Given the description of an element on the screen output the (x, y) to click on. 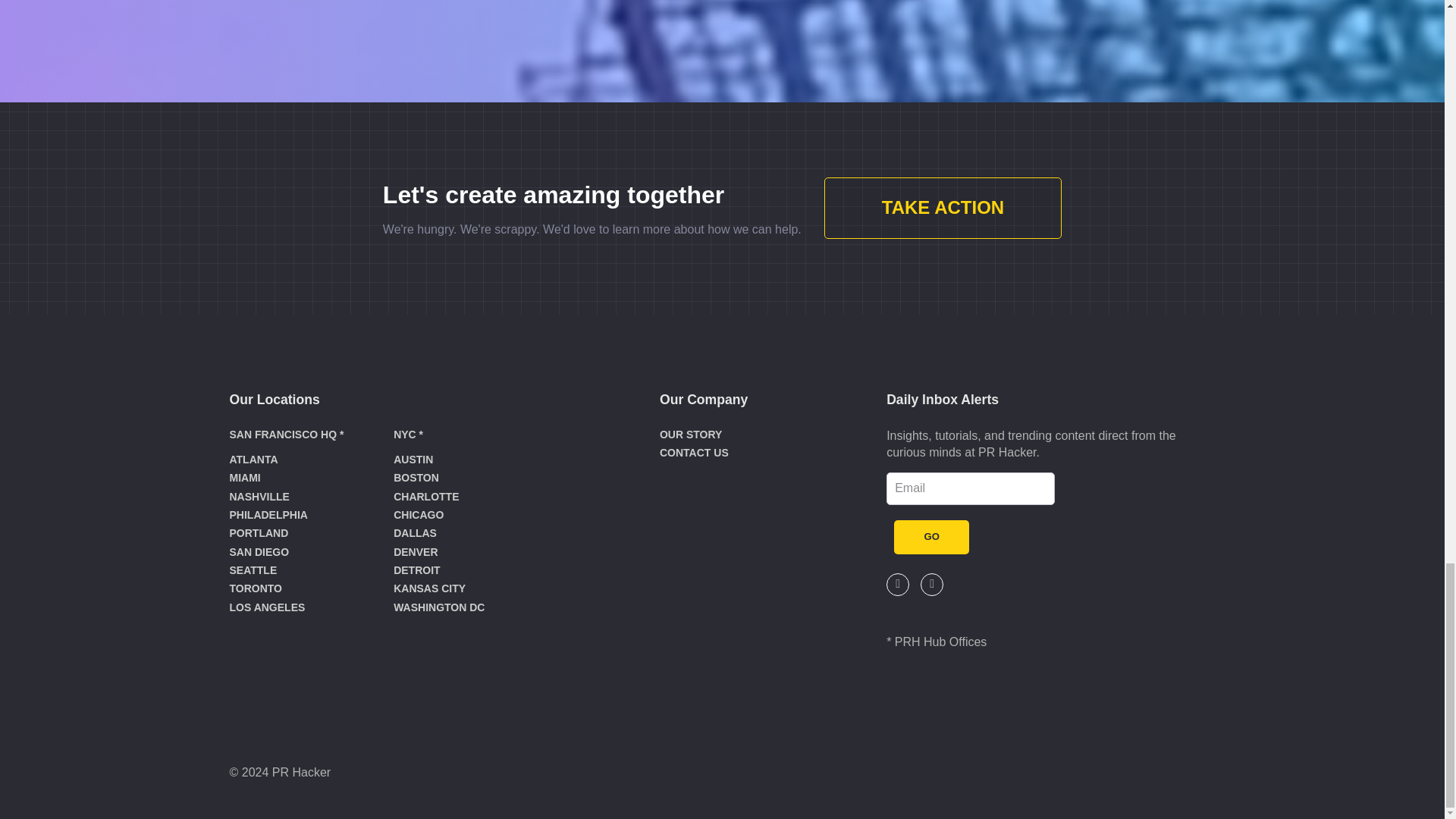
TAKE ACTION (942, 208)
MIAMI (244, 477)
AUSTIN (412, 459)
BOSTON (416, 477)
ATLANTA (253, 459)
TAKE ACTION (942, 209)
